Given the description of an element on the screen output the (x, y) to click on. 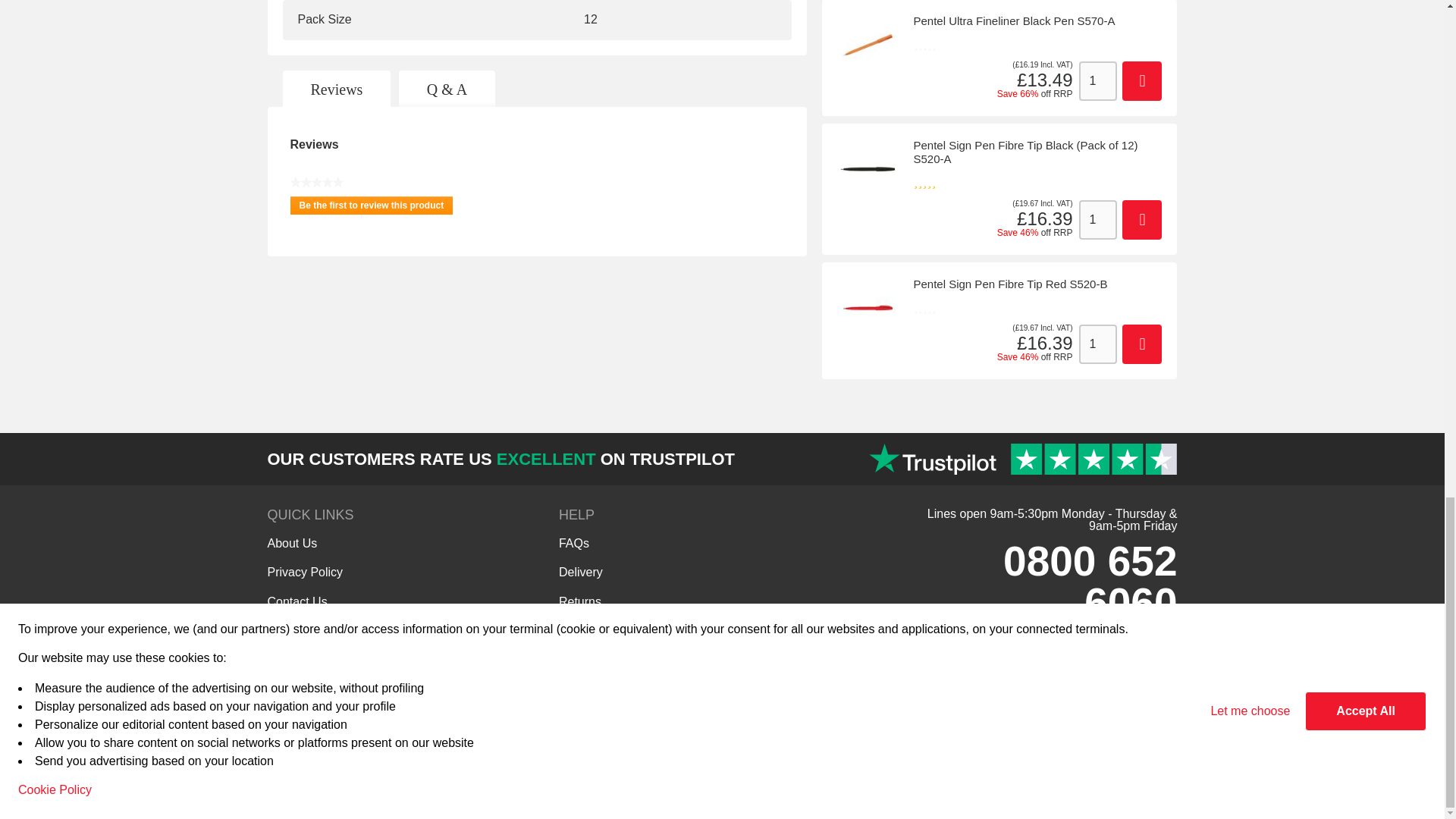
1 (1097, 80)
1 (1097, 219)
1 (1097, 343)
